Given the description of an element on the screen output the (x, y) to click on. 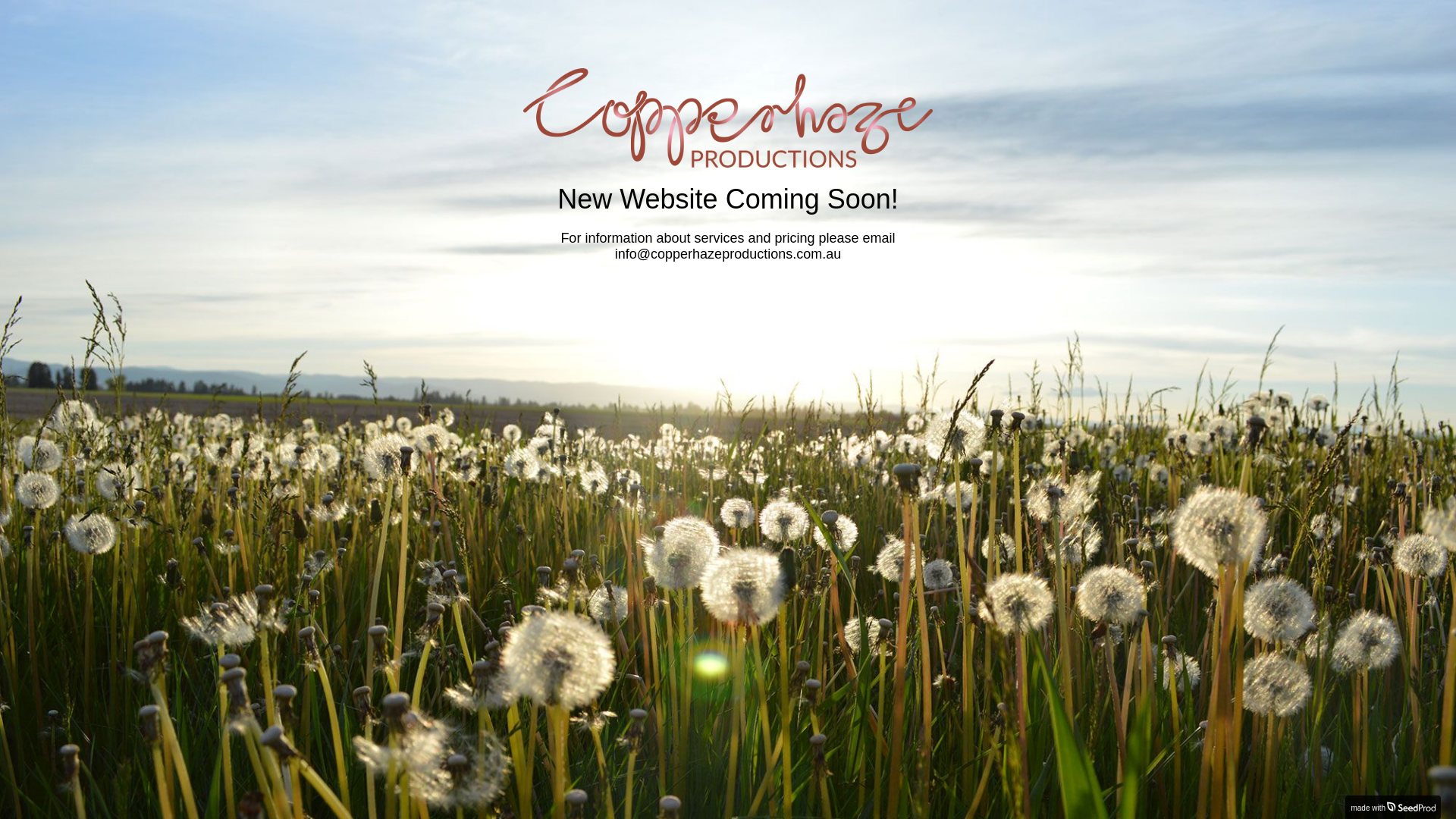
made with Element type: text (1392, 806)
